Given the description of an element on the screen output the (x, y) to click on. 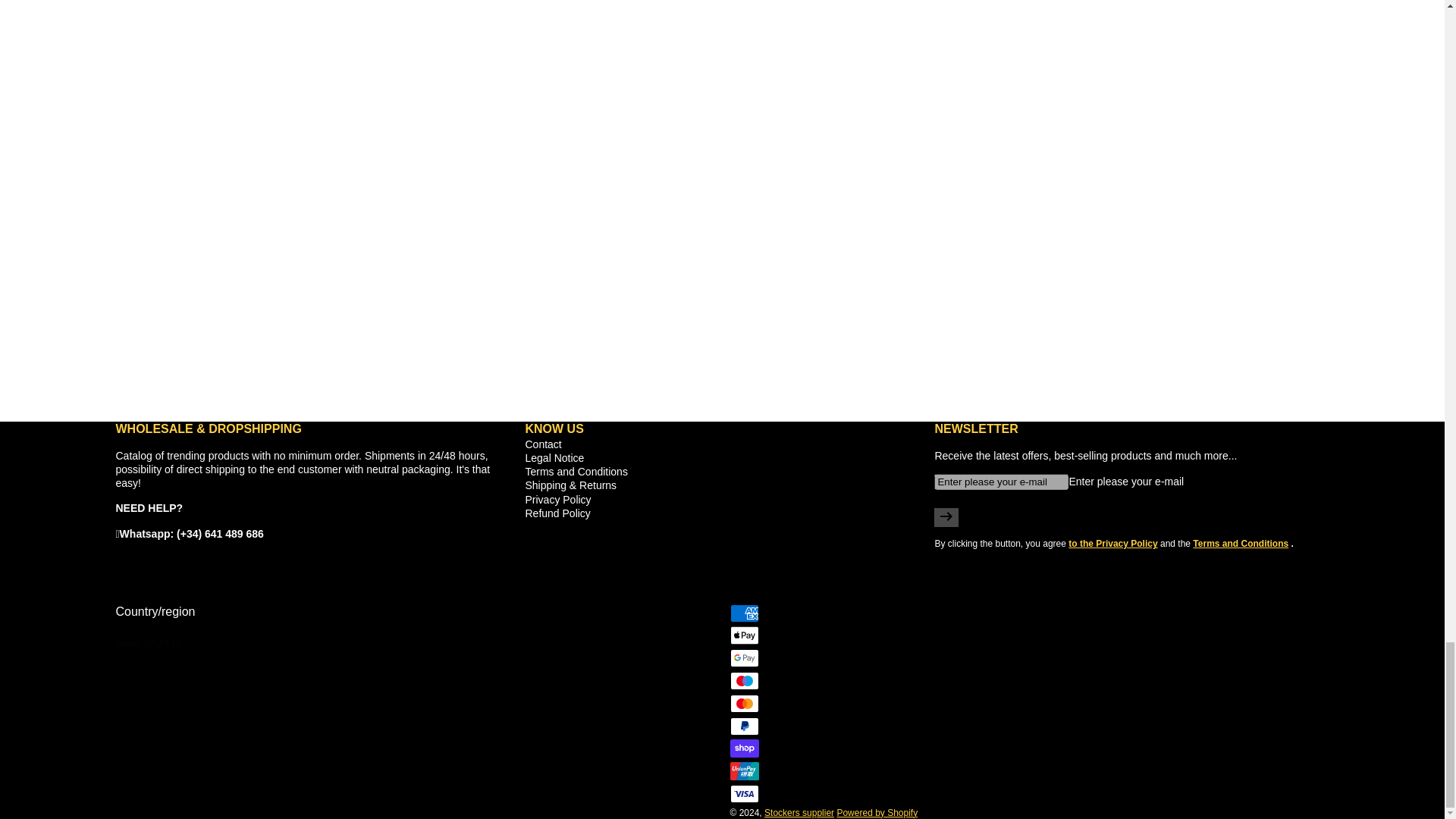
PayPal (743, 726)
Privacy Policy (1112, 543)
Apple Pay (743, 635)
Visa (743, 793)
Mastercard (743, 703)
Union Pay (743, 771)
Shop Pay (743, 748)
Terms of Service (1240, 543)
Google Pay (743, 658)
American Express (743, 613)
Maestro (743, 680)
